Given the description of an element on the screen output the (x, y) to click on. 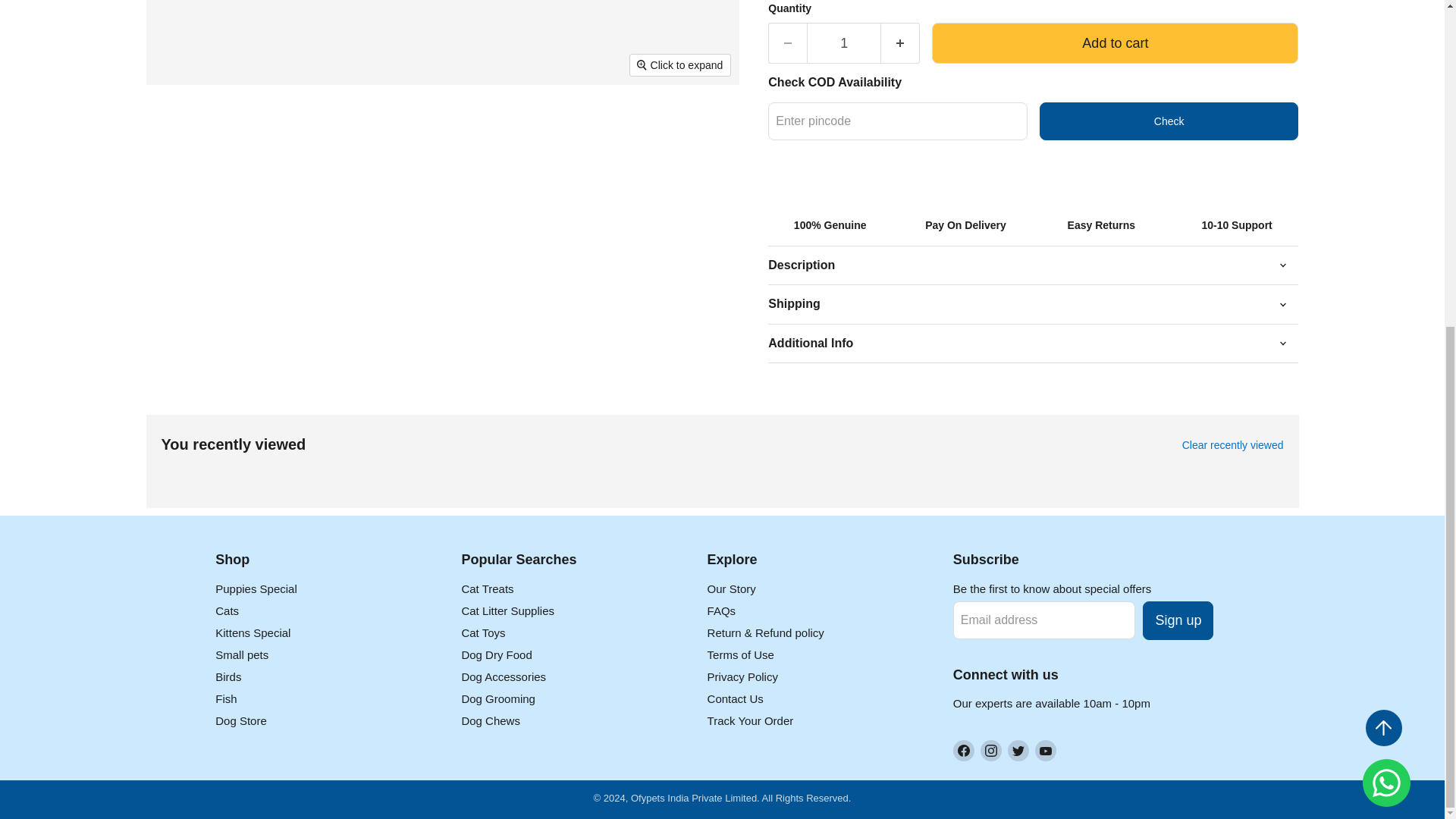
Facebook (963, 750)
Twitter (1018, 750)
YouTube (1046, 750)
Instagram (990, 750)
1 (843, 43)
Back To Top (1383, 728)
